Given the description of an element on the screen output the (x, y) to click on. 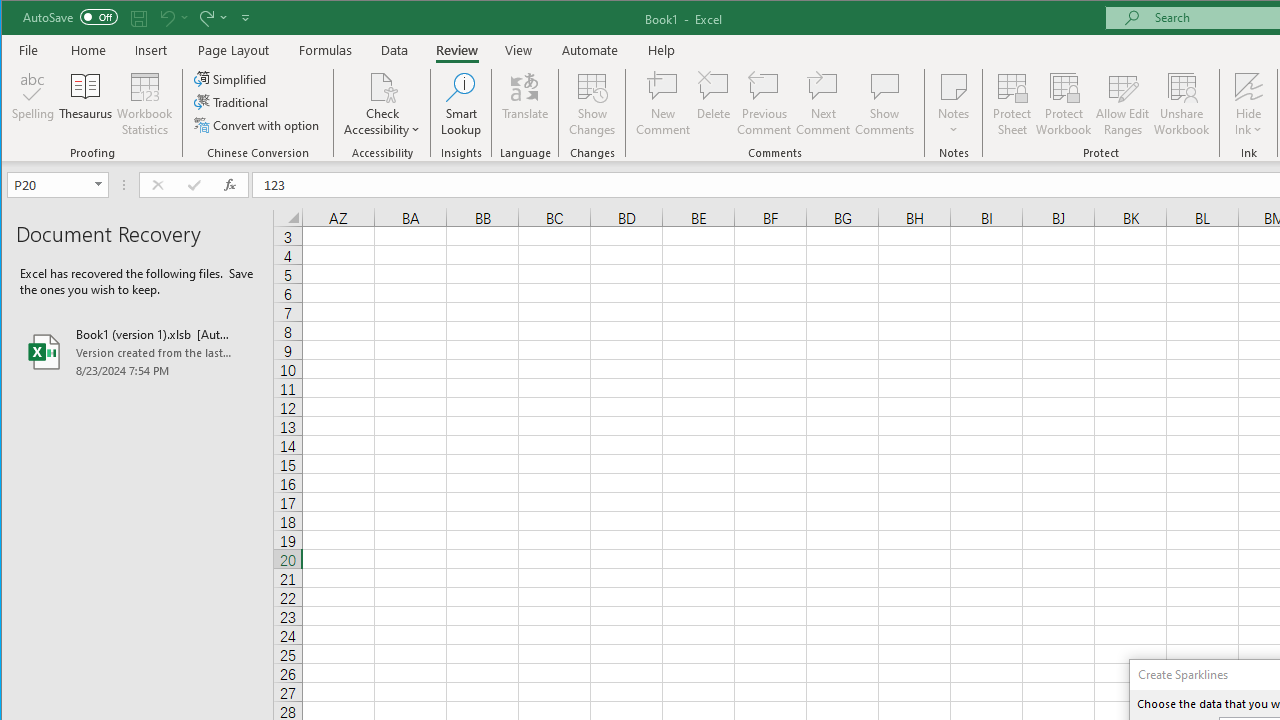
Hide Ink (1248, 104)
Check Accessibility (381, 86)
Traditional (232, 101)
Convert with option (258, 124)
Previous Comment (763, 104)
Hide Ink (1248, 86)
Workbook Statistics (145, 104)
Show Comments (884, 104)
Simplified (231, 78)
